Given the description of an element on the screen output the (x, y) to click on. 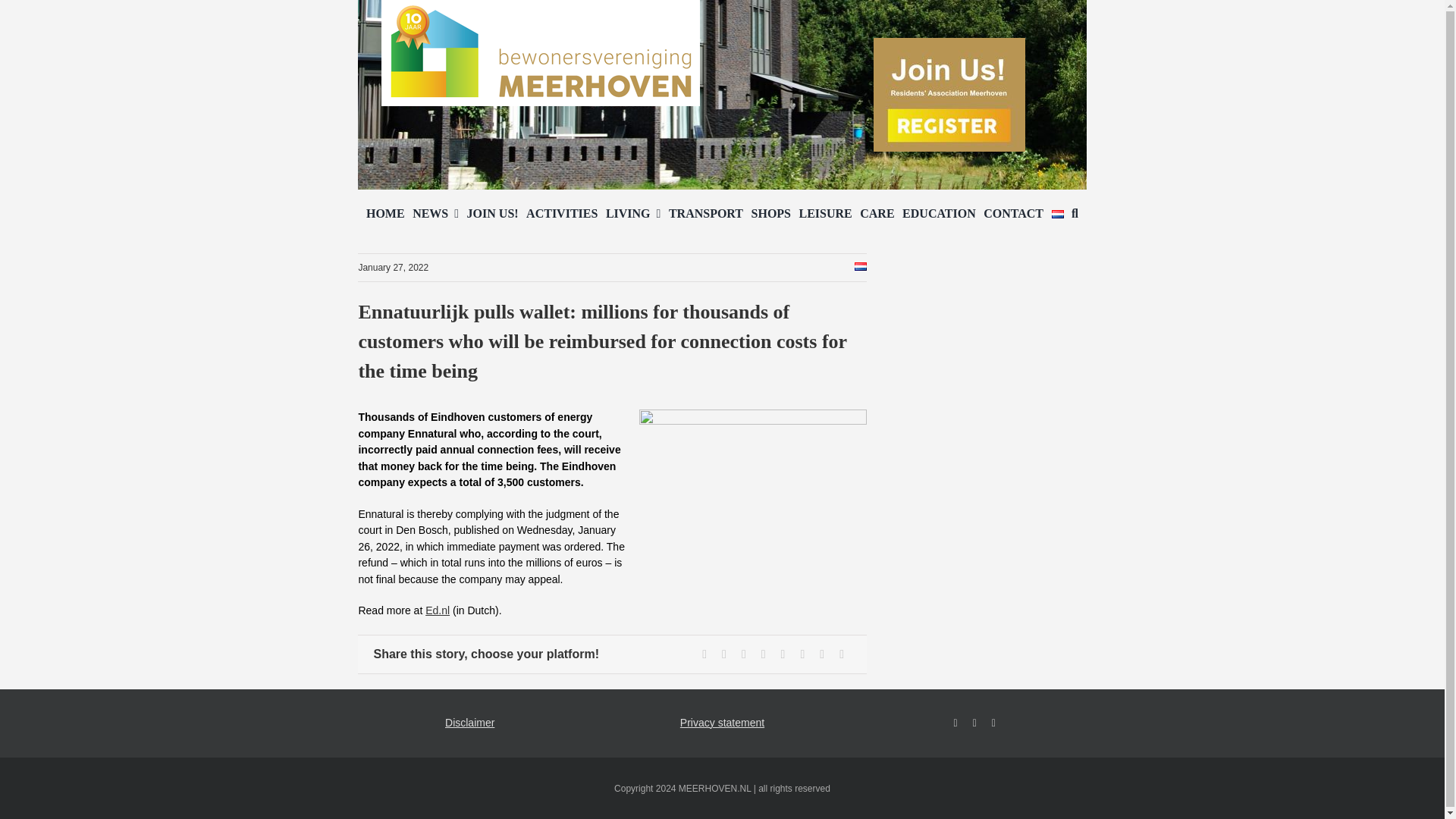
X (723, 654)
Reddit (743, 654)
ACTIVITIES (560, 213)
EDUCATION (938, 213)
Pinterest (802, 654)
NEWS (435, 213)
Logo-BMV-10-jaar (540, 53)
LIVING (633, 213)
CONTACT (1013, 213)
JOIN US! (492, 213)
